Given the description of an element on the screen output the (x, y) to click on. 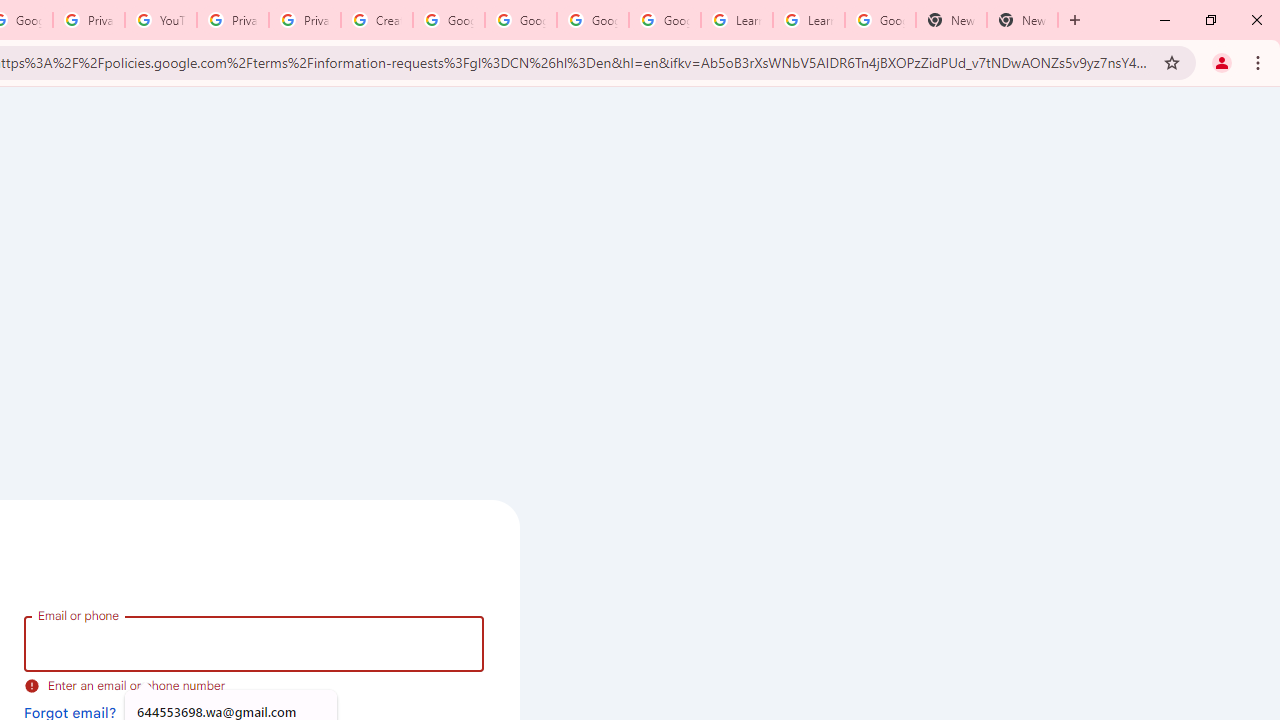
Email or phone (253, 643)
YouTube (161, 20)
Create your Google Account (376, 20)
New Tab (951, 20)
Google Account Help (592, 20)
Google Account Help (664, 20)
